Given the description of an element on the screen output the (x, y) to click on. 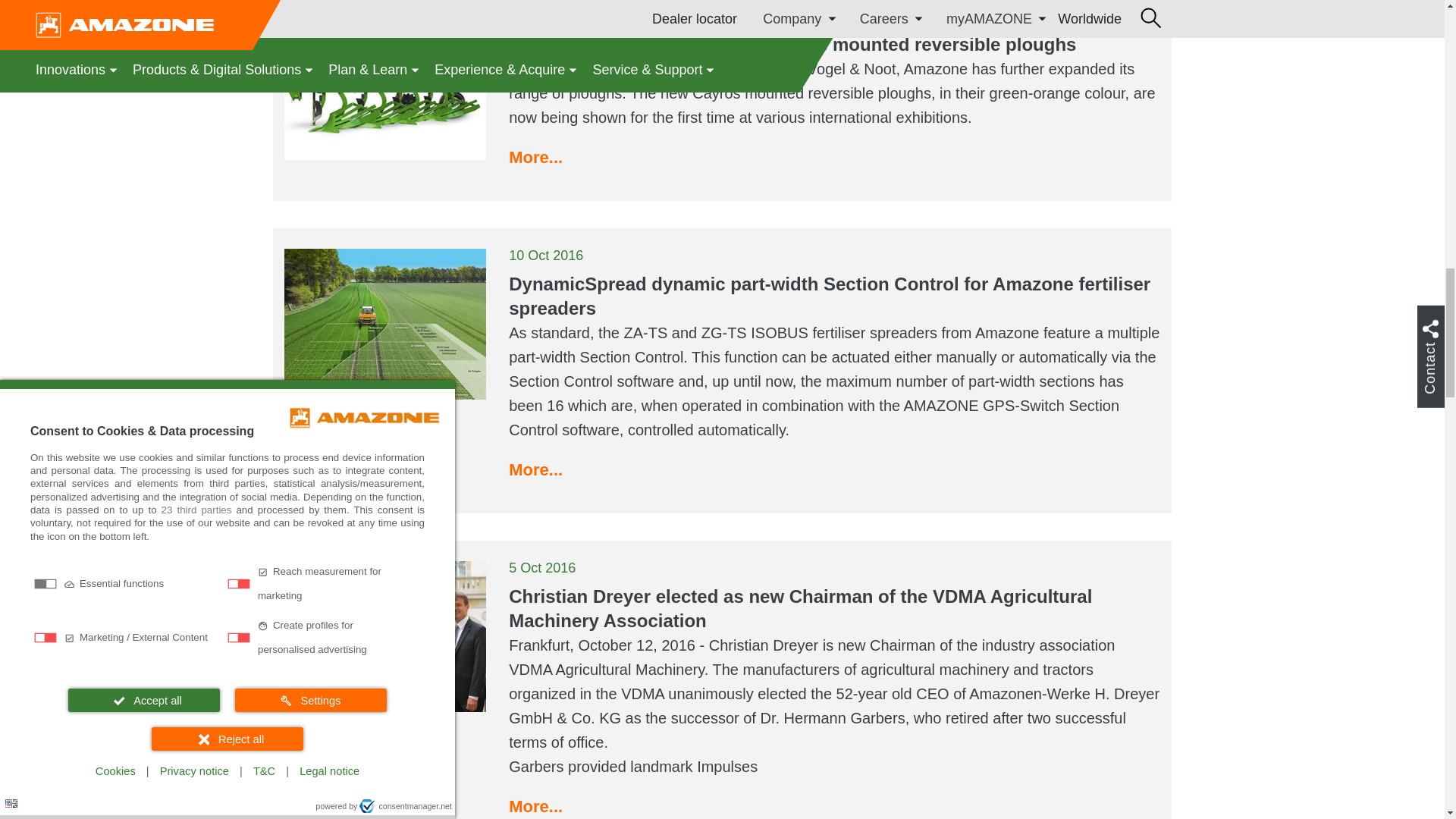
DynamicSpread (384, 324)
Cayros (384, 84)
